Given the description of an element on the screen output the (x, y) to click on. 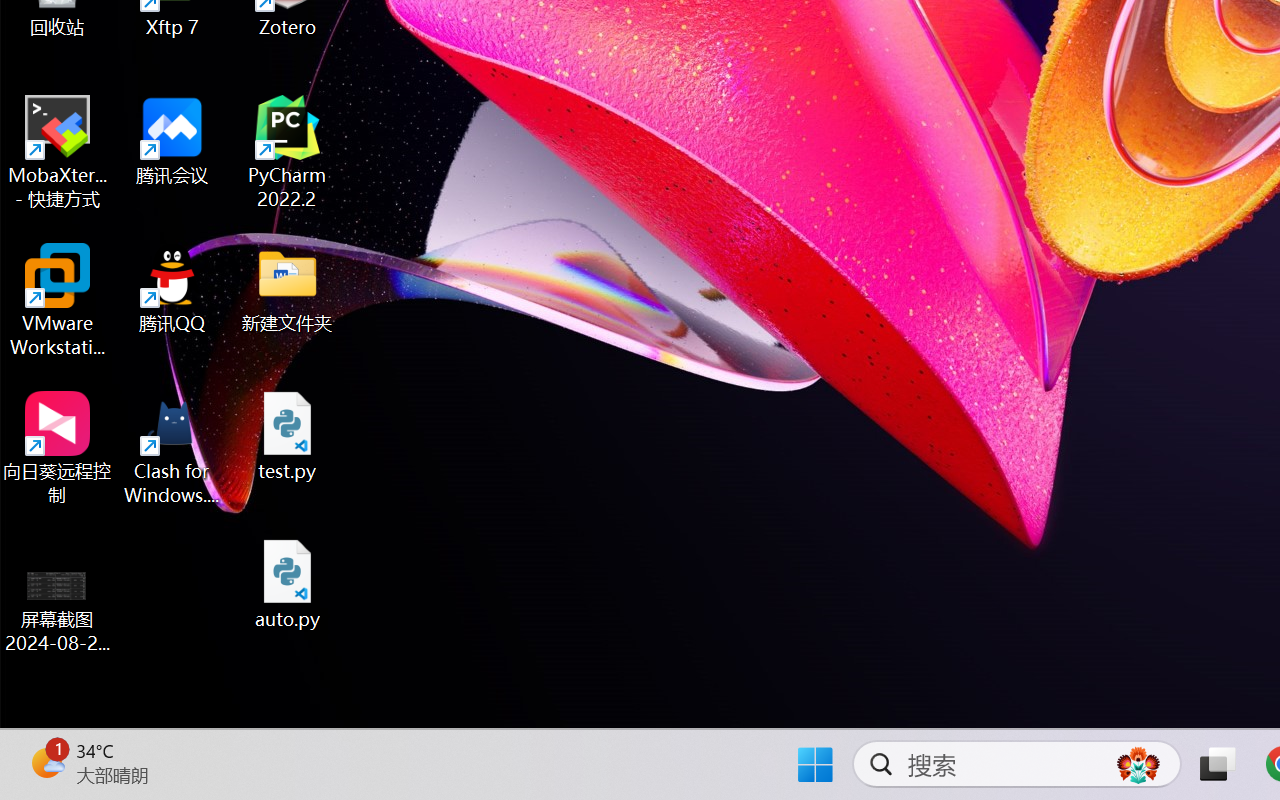
test.py (287, 436)
